Given the description of an element on the screen output the (x, y) to click on. 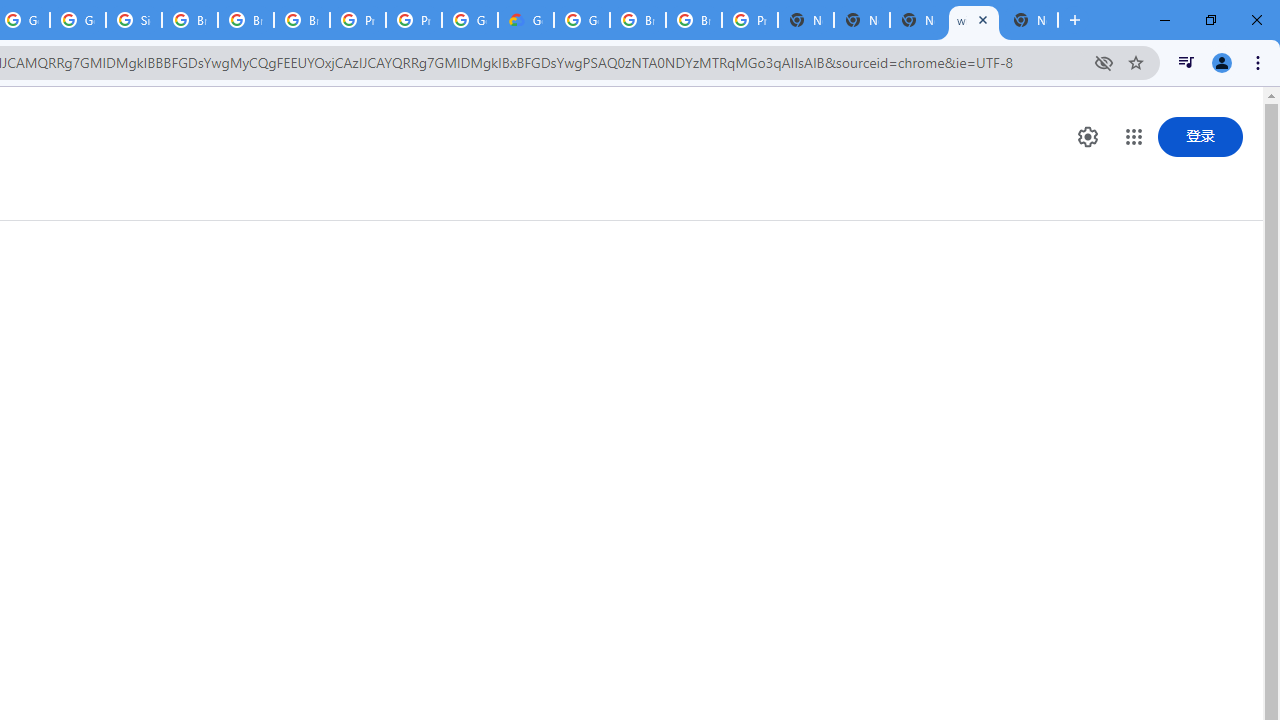
Control your music, videos, and more (1185, 62)
Sign in - Google Accounts (134, 20)
New Tab (1030, 20)
Google Cloud Platform (582, 20)
Browse Chrome as a guest - Computer - Google Chrome Help (189, 20)
Browse Chrome as a guest - Computer - Google Chrome Help (637, 20)
